Given the description of an element on the screen output the (x, y) to click on. 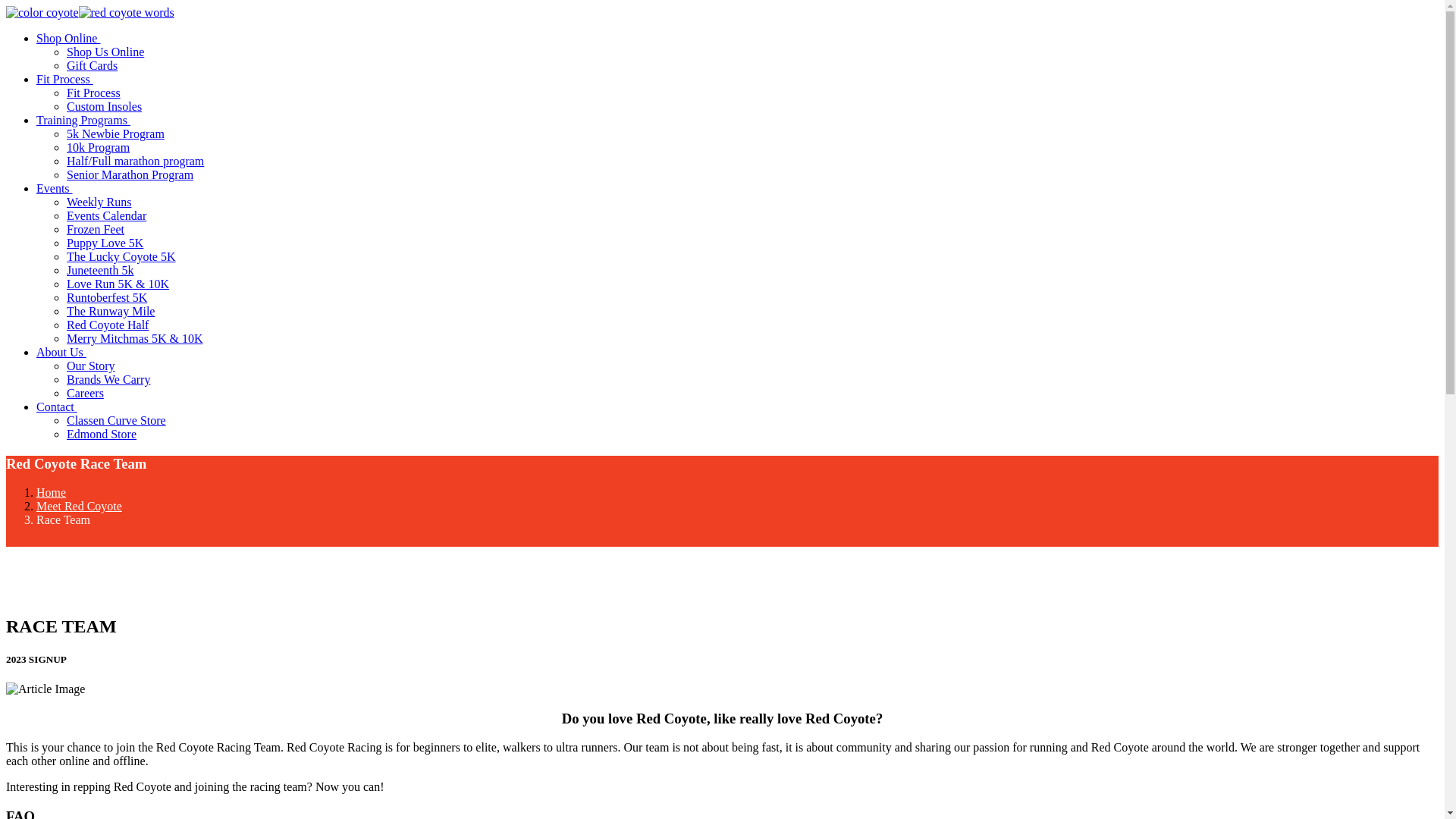
Careers (84, 392)
Frozen Feet (94, 228)
Fit Process (93, 92)
Shop Online  (68, 38)
Weekly Runs (98, 201)
The Runway Mile (110, 310)
Brands We Carry (107, 379)
The Lucky Coyote 5K (121, 256)
Gift Cards (91, 65)
Runtoberfest 5K (106, 297)
Training Programs  (83, 119)
Our Story (90, 365)
Events  (54, 187)
Puppy Love 5K (104, 242)
Juneteenth 5k (99, 269)
